Given the description of an element on the screen output the (x, y) to click on. 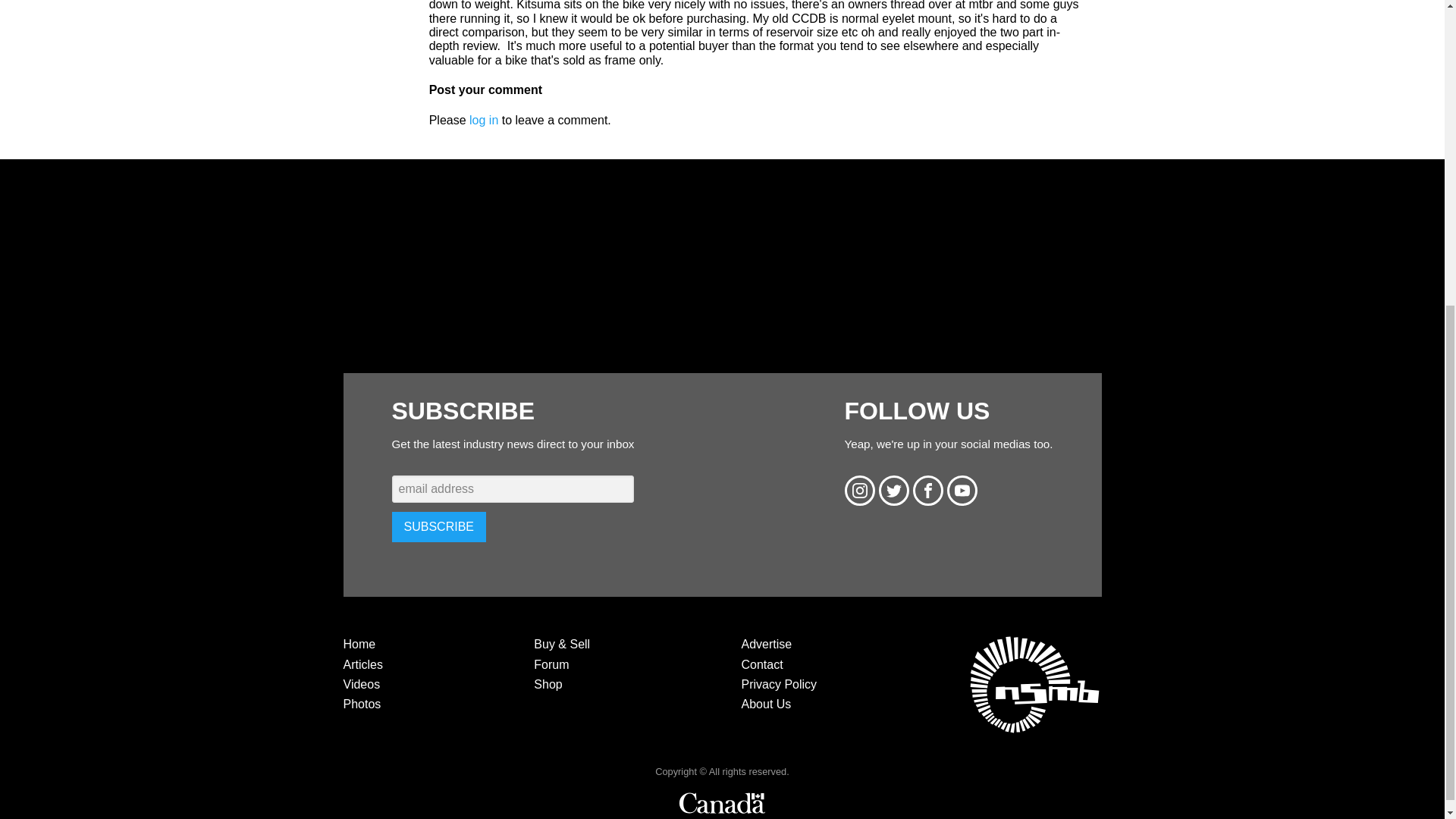
Subscribe (437, 526)
